Given the description of an element on the screen output the (x, y) to click on. 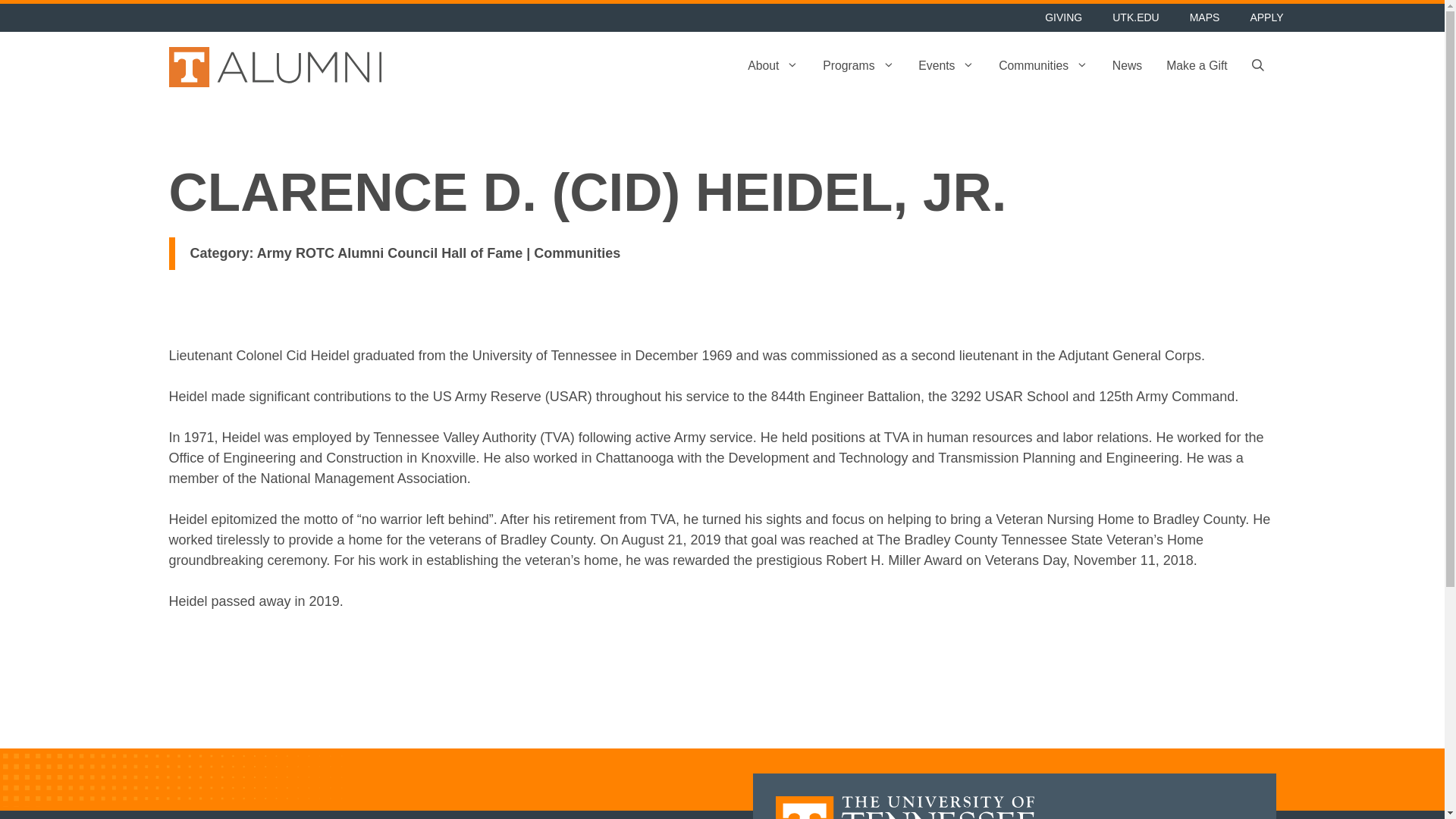
MAPS (1204, 17)
Make a Gift (1197, 67)
Programs (857, 67)
UTK.EDU (1135, 17)
APPLY (1266, 17)
GIVING (1063, 17)
Communities (1043, 67)
News (1127, 67)
Events (946, 67)
About (772, 67)
